Given the description of an element on the screen output the (x, y) to click on. 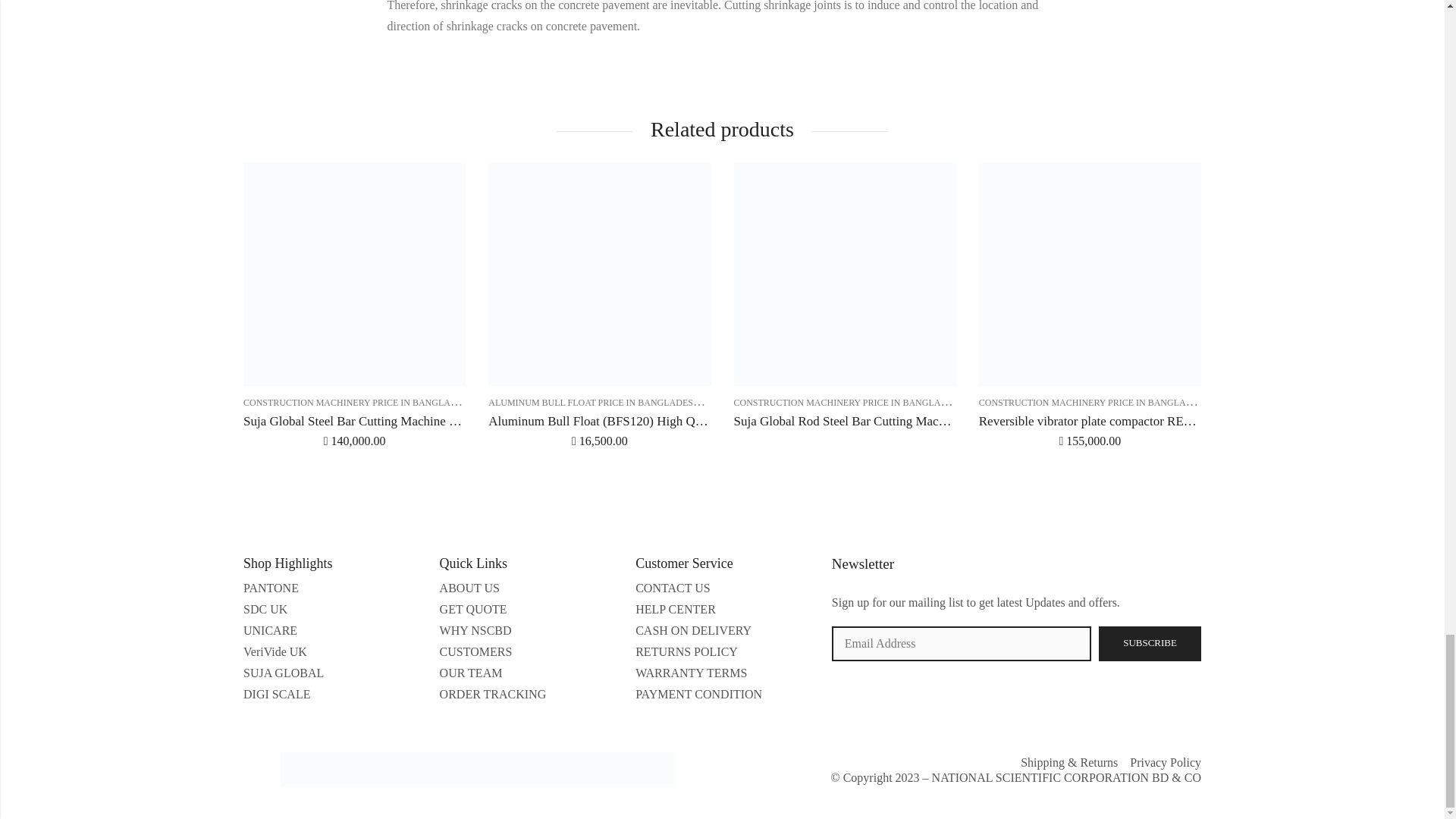
Subscribe (1150, 643)
